Given the description of an element on the screen output the (x, y) to click on. 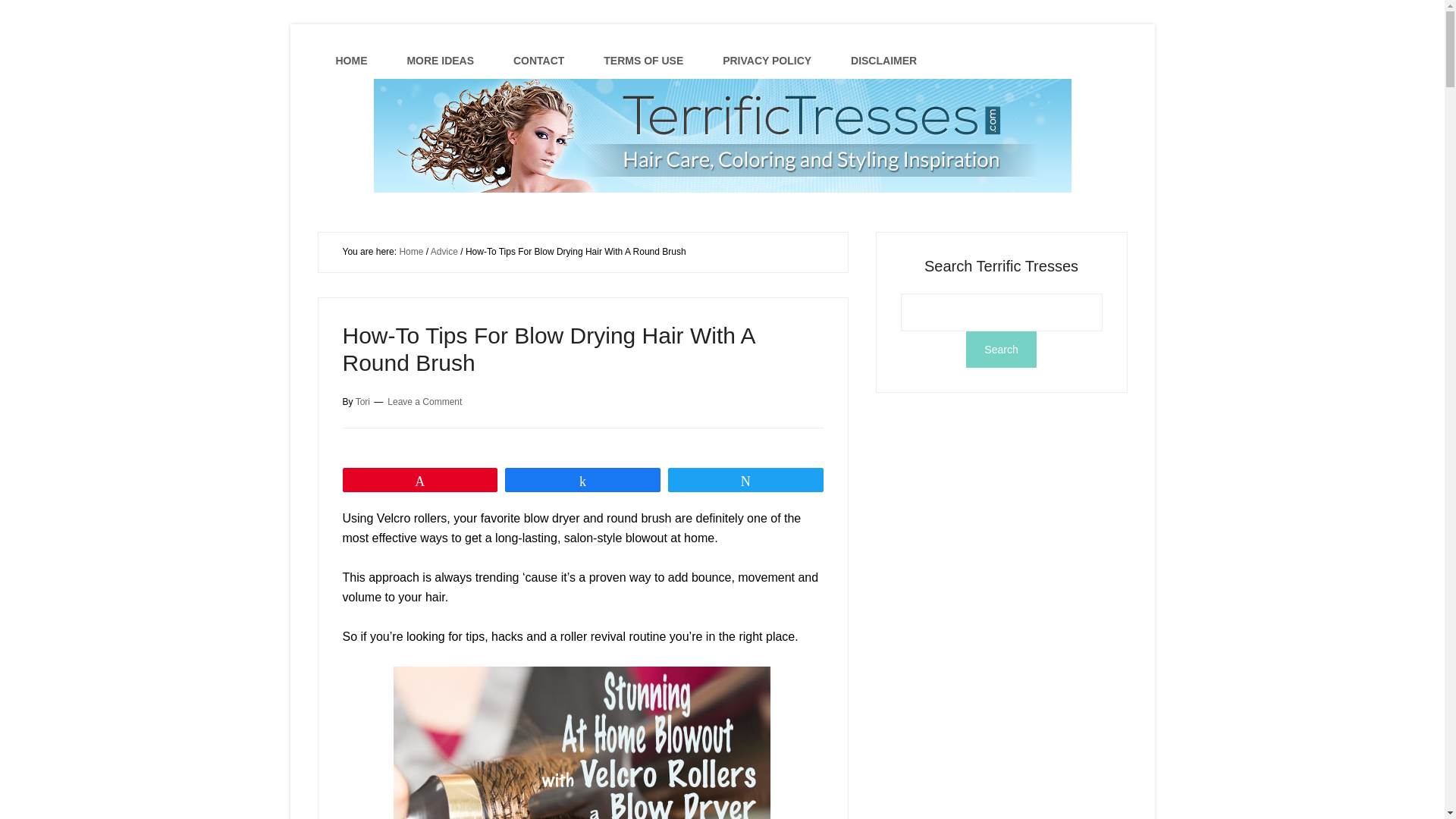
Home (410, 251)
Leave a Comment (424, 400)
TERMS OF USE (643, 60)
PRIVACY POLICY (766, 60)
Tori (362, 400)
HOME (351, 60)
Advice (444, 251)
Search (1000, 349)
MORE IDEAS (440, 60)
CONTACT (538, 60)
